Given the description of an element on the screen output the (x, y) to click on. 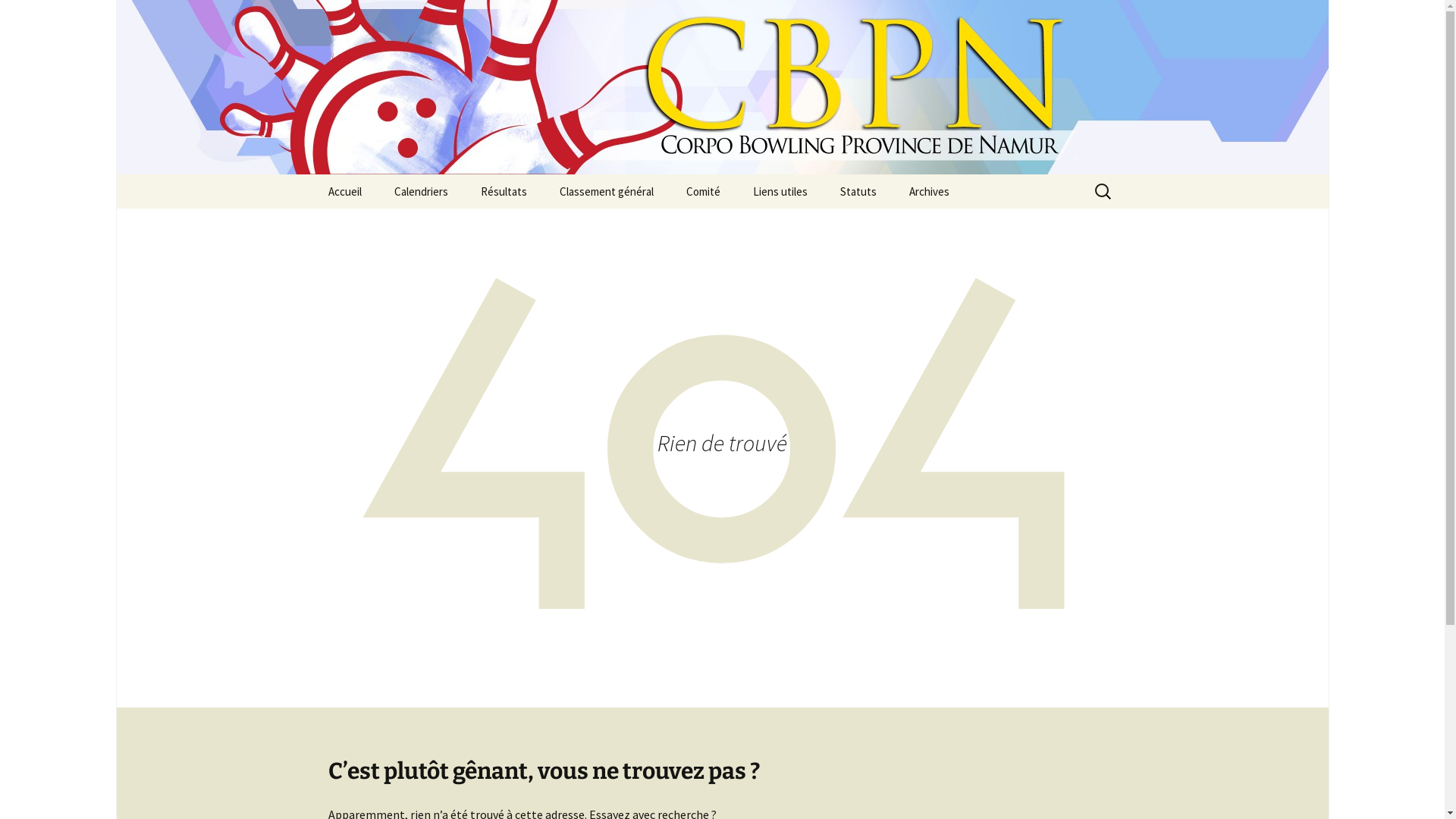
Rechercher Element type: text (44, 15)
Namur Element type: text (454, 225)
Namur Element type: text (541, 225)
Rechercher Element type: text (18, 16)
Calendriers Element type: text (421, 191)
Corpobowlingprovnam.be
Un site utilisant WordPress Element type: text (721, 87)
Liens utiles Element type: text (779, 191)
Accueil Element type: text (344, 191)
Aller au contenu Element type: text (312, 173)
Statuts Element type: text (858, 191)
Archives Element type: text (928, 191)
Rechercher Element type: text (47, 16)
Namur Element type: text (620, 225)
